Given the description of an element on the screen output the (x, y) to click on. 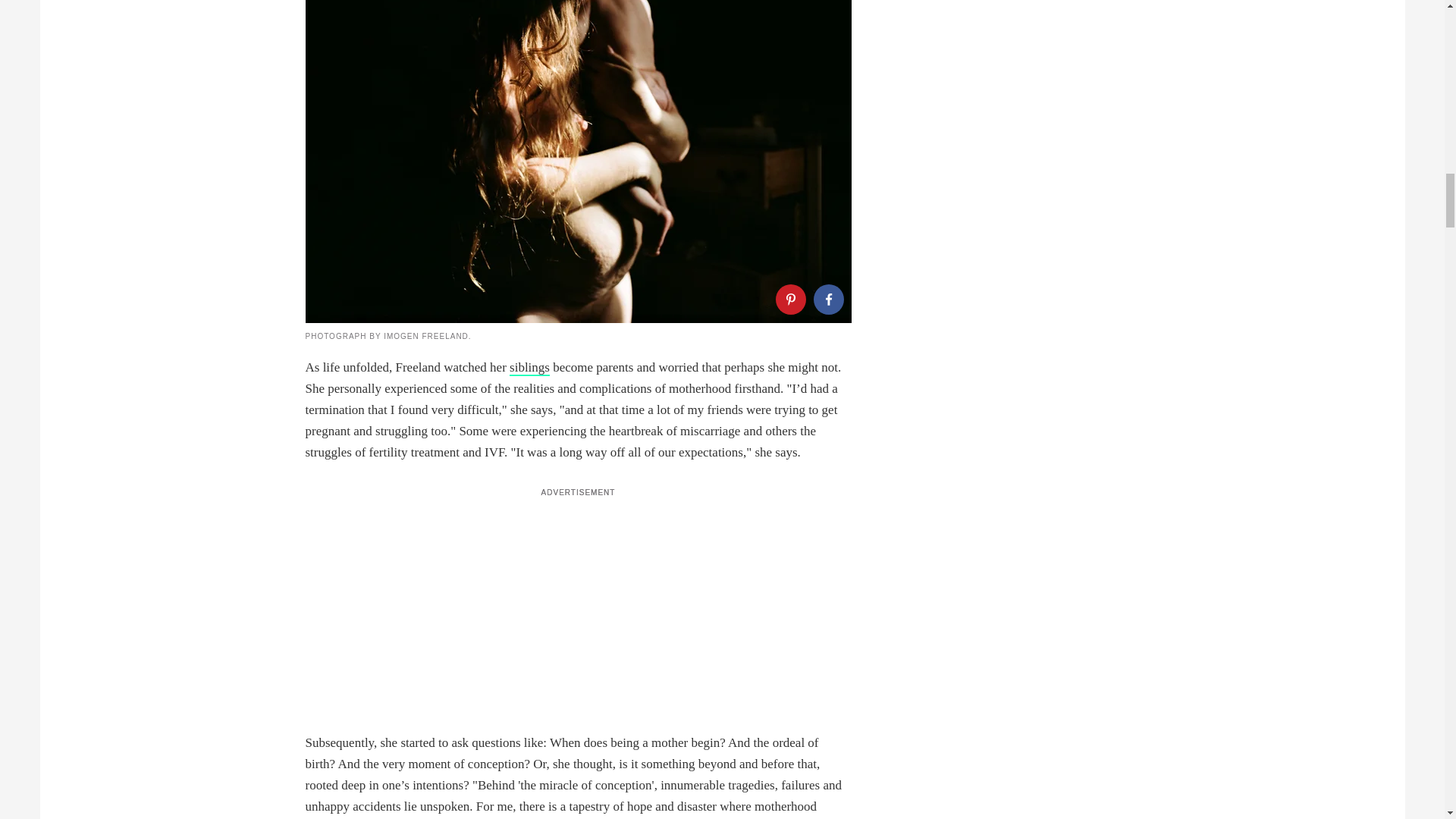
Share on Pinterest (789, 299)
siblings (529, 367)
Share on Facebook (827, 299)
